Given the description of an element on the screen output the (x, y) to click on. 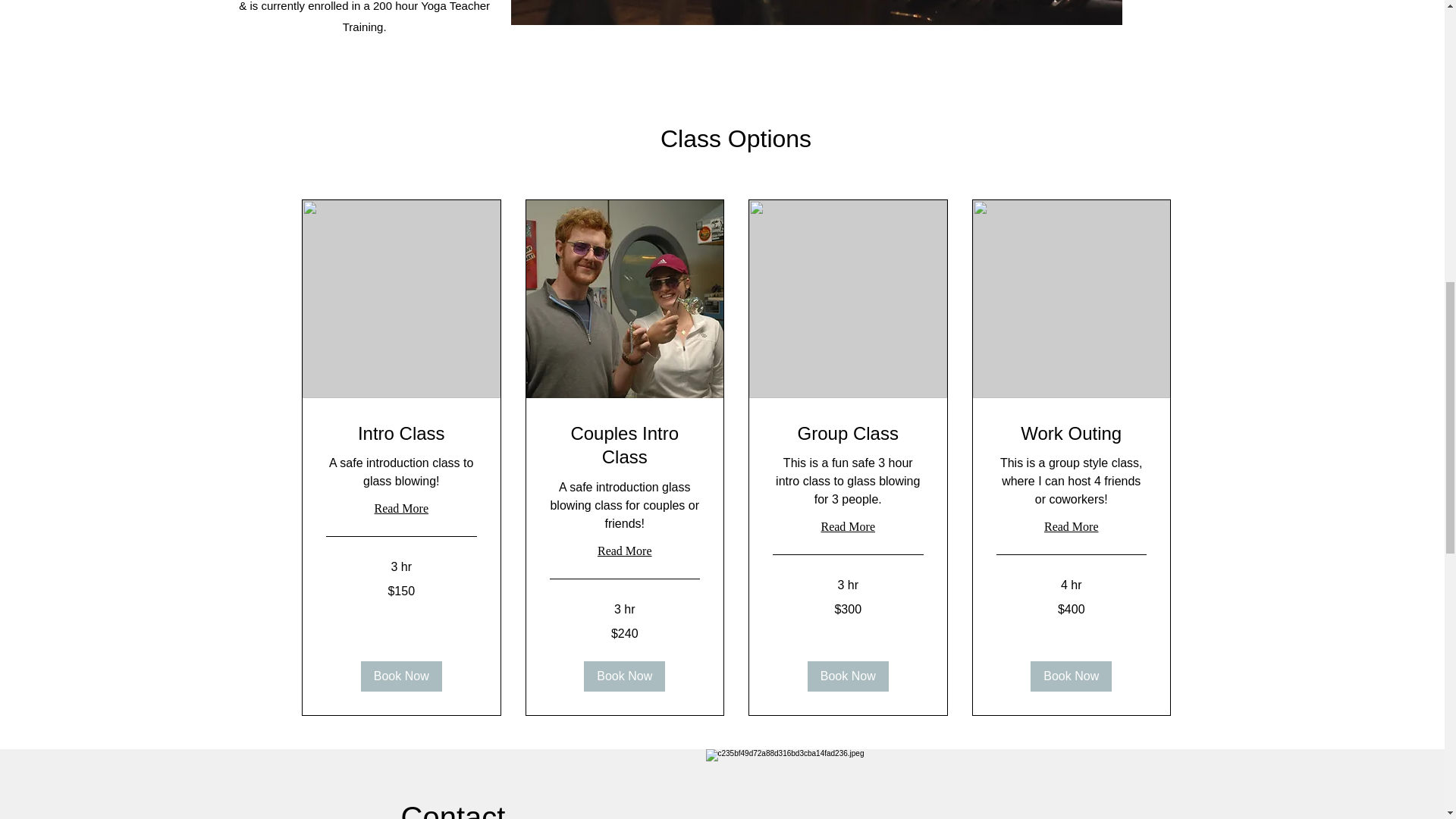
Book Now (624, 675)
Read More (1071, 526)
Book Now (1071, 675)
Read More (401, 508)
Intro Class (401, 432)
Group Class (847, 432)
Book Now (400, 675)
Work Outing (1071, 432)
Read More (624, 551)
Read More (847, 526)
Book Now (847, 675)
Couples Intro Class (624, 444)
